Given the description of an element on the screen output the (x, y) to click on. 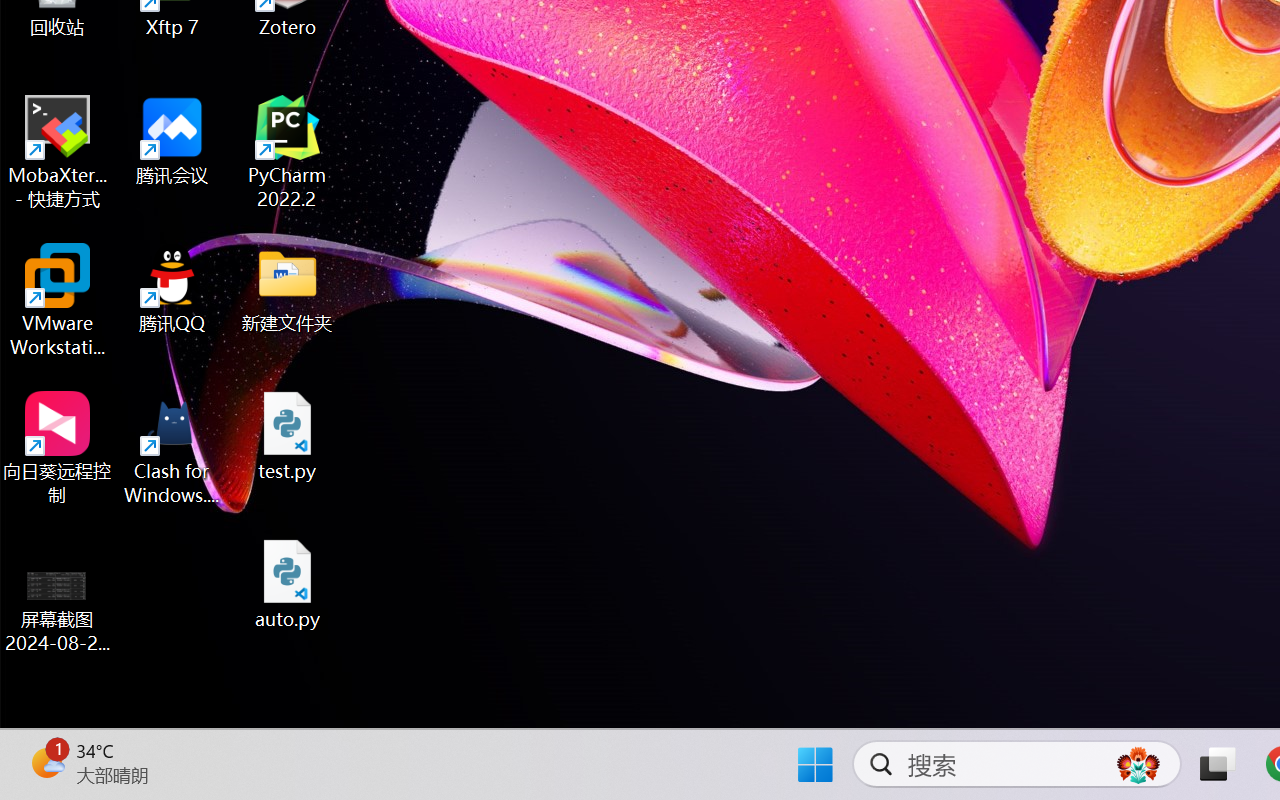
PyCharm 2022.2 (287, 152)
